Given the description of an element on the screen output the (x, y) to click on. 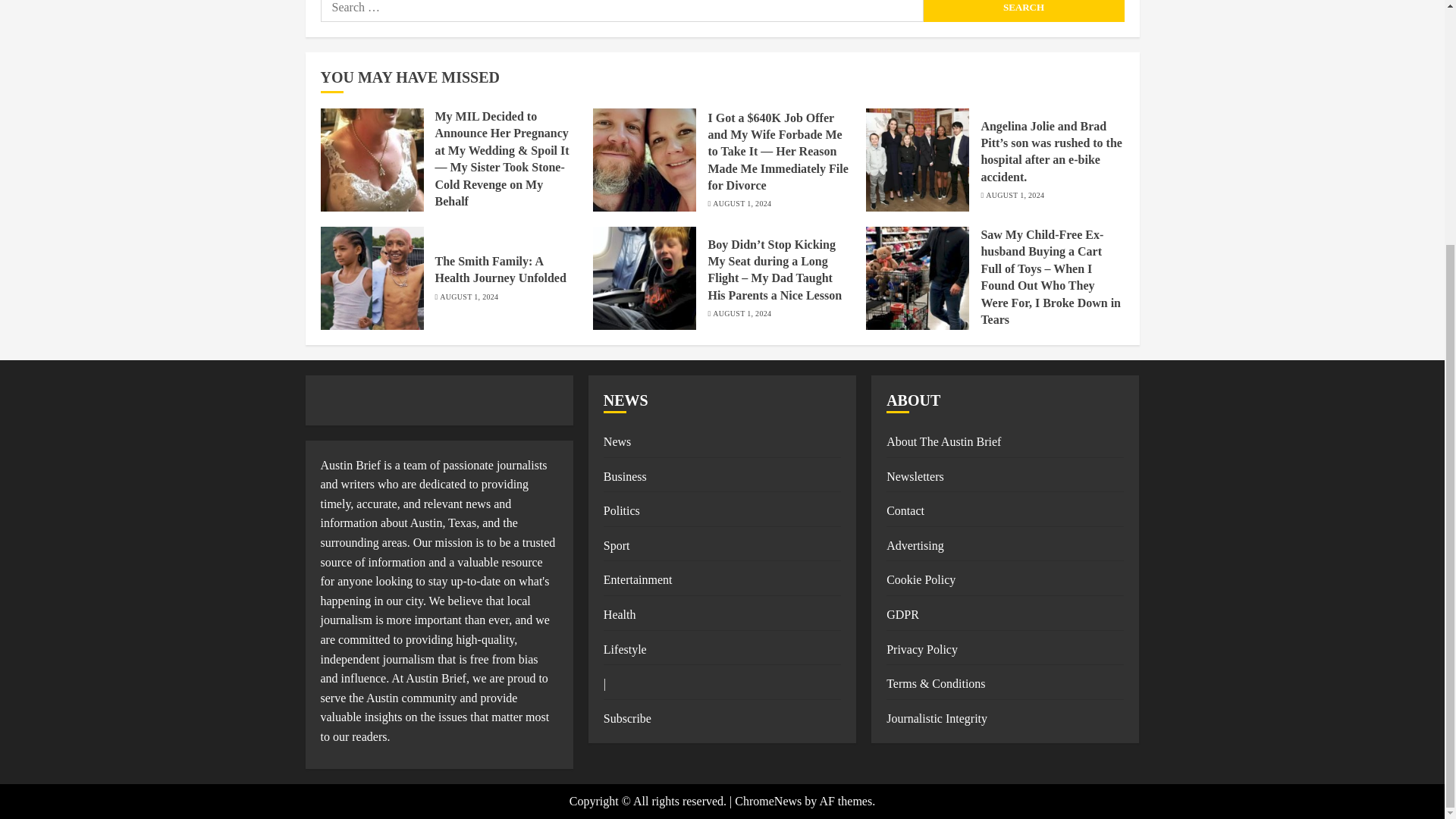
Search (1023, 11)
The Smith Family: A Health Journey Unfolded (500, 269)
AUGUST 1, 2024 (742, 204)
Search (1023, 11)
AUGUST 1, 2024 (742, 313)
AUGUST 1, 2024 (468, 296)
Search (1023, 11)
Business (625, 477)
AUGUST 1, 2024 (1014, 195)
News (617, 441)
